Given the description of an element on the screen output the (x, y) to click on. 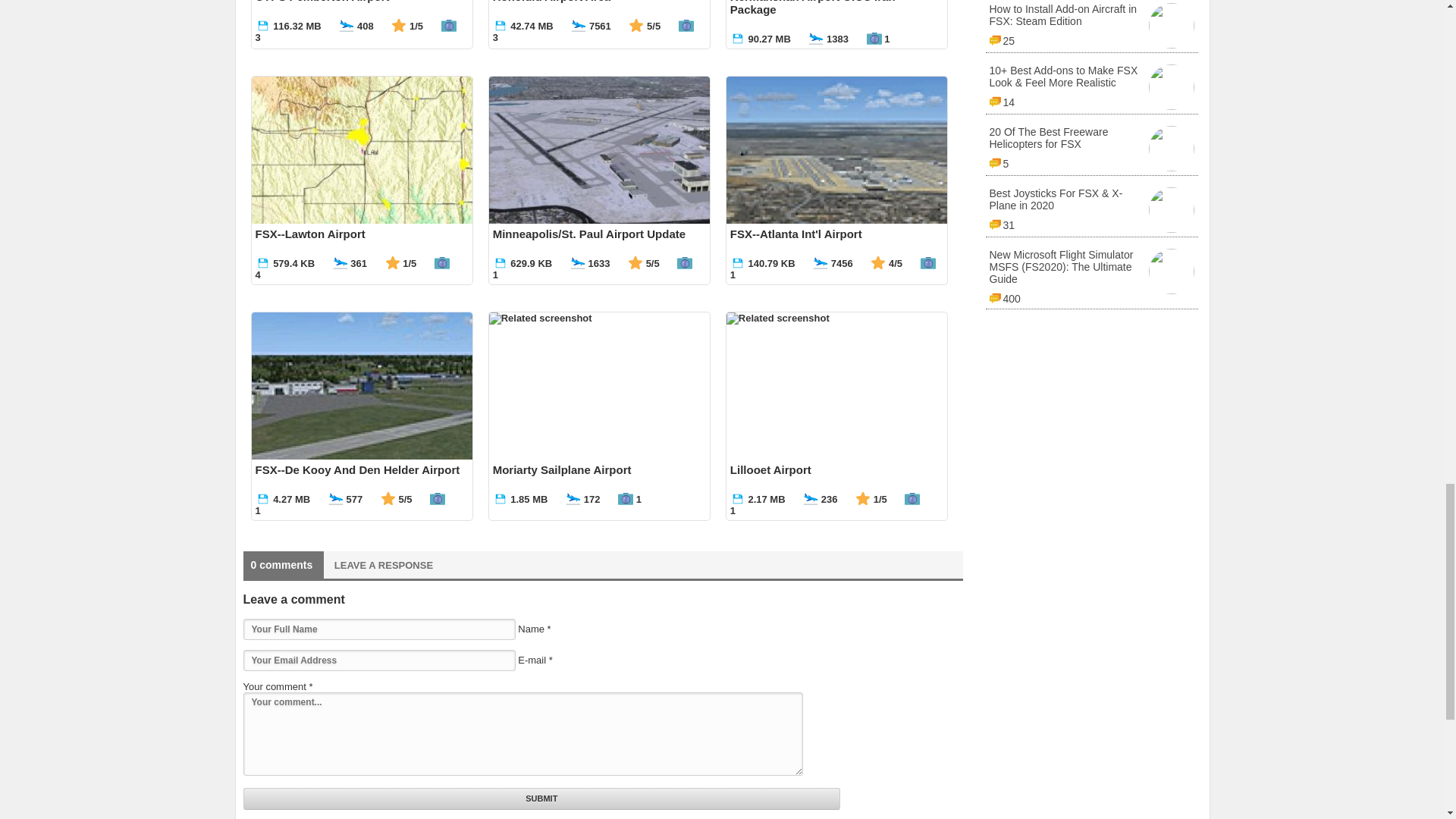
File Size (261, 25)
Rating (398, 21)
Submit (541, 798)
Total Downloads (346, 25)
Submit (541, 798)
LEAVE A RESPONSE (383, 564)
Star Rating (398, 25)
